Given the description of an element on the screen output the (x, y) to click on. 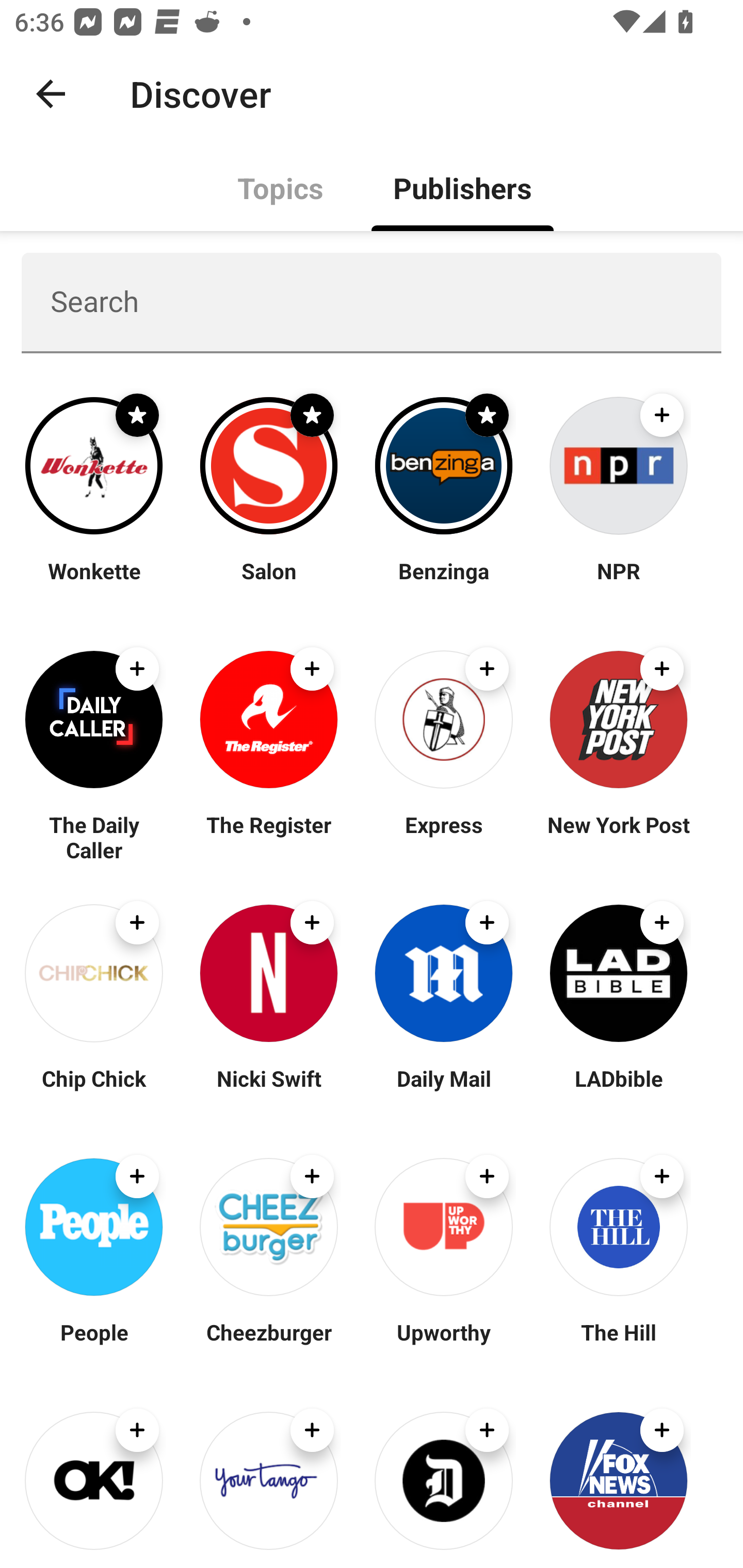
Topics (280, 187)
Search (371, 302)
Wonkette (93, 582)
Salon (268, 582)
Benzinga (443, 582)
NPR (618, 582)
The Daily Caller (93, 836)
The Register (268, 836)
Express (443, 836)
New York Post (618, 836)
Chip Chick (93, 1090)
Nicki Swift (268, 1090)
Daily Mail (443, 1090)
LADbible (618, 1090)
People (93, 1344)
Cheezburger (268, 1344)
Upworthy (443, 1344)
